Given the description of an element on the screen output the (x, y) to click on. 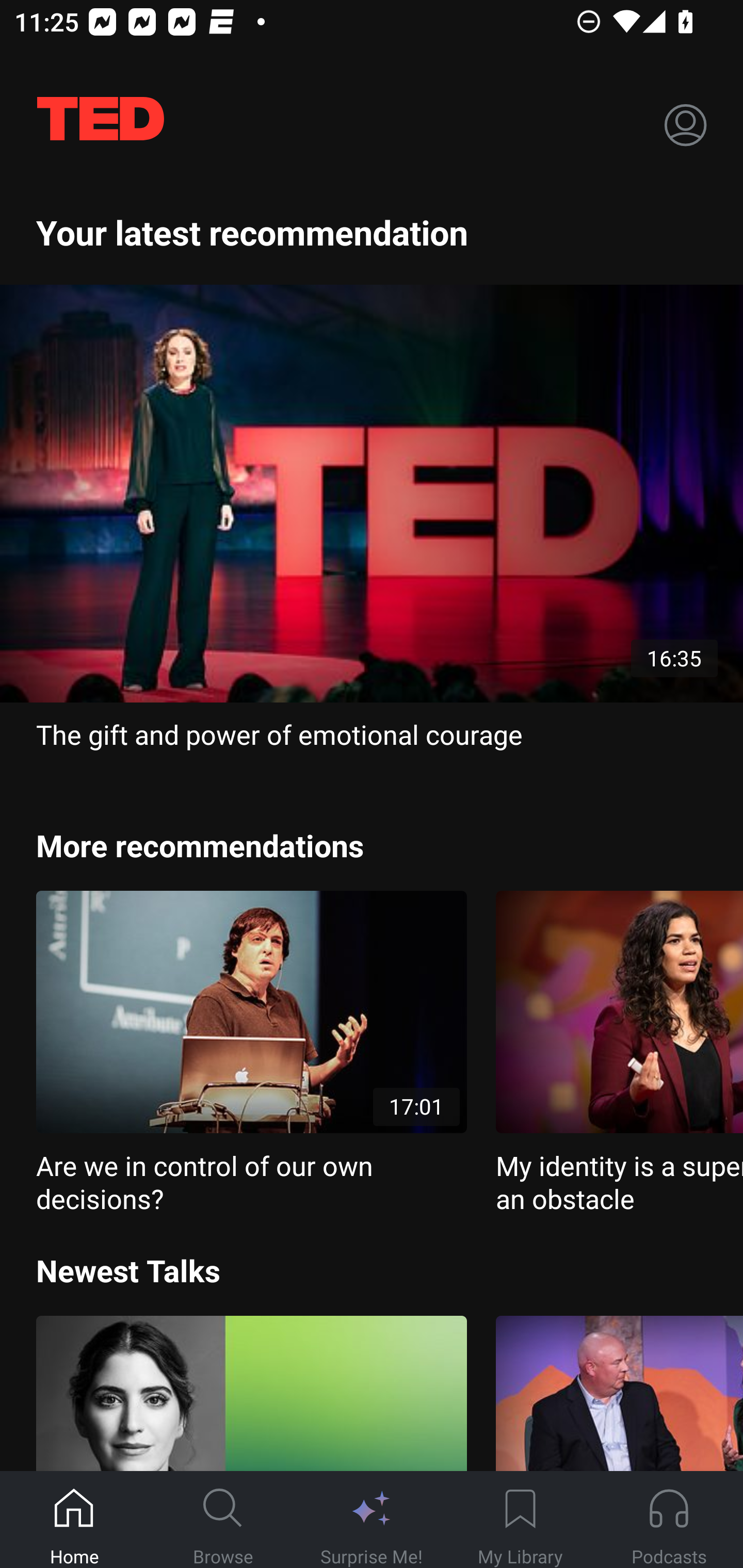
17:01 Are we in control of our own decisions? (251, 1053)
My identity is a superpower -- not an obstacle (619, 1053)
Home (74, 1520)
Browse (222, 1520)
Surprise Me! (371, 1520)
My Library (519, 1520)
Podcasts (668, 1520)
